Given the description of an element on the screen output the (x, y) to click on. 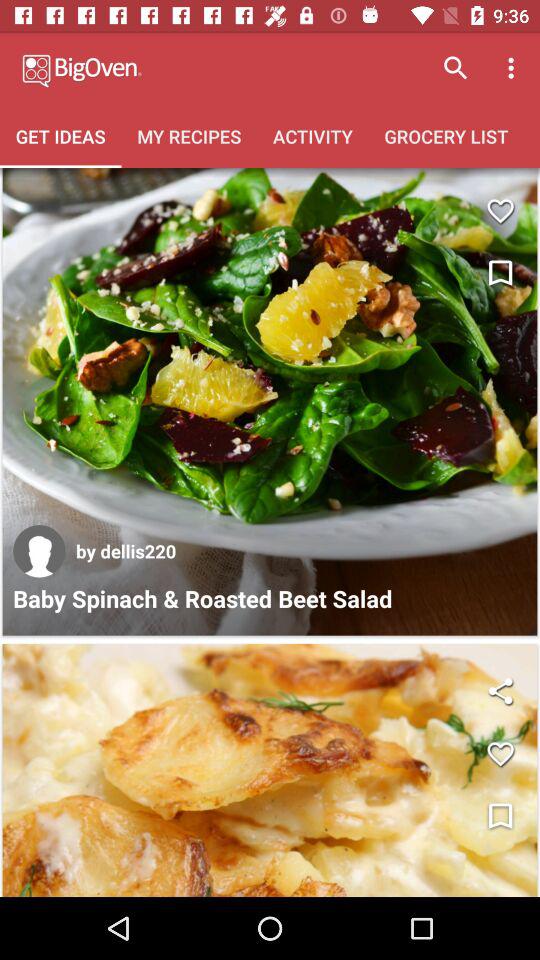
favorite (500, 210)
